Given the description of an element on the screen output the (x, y) to click on. 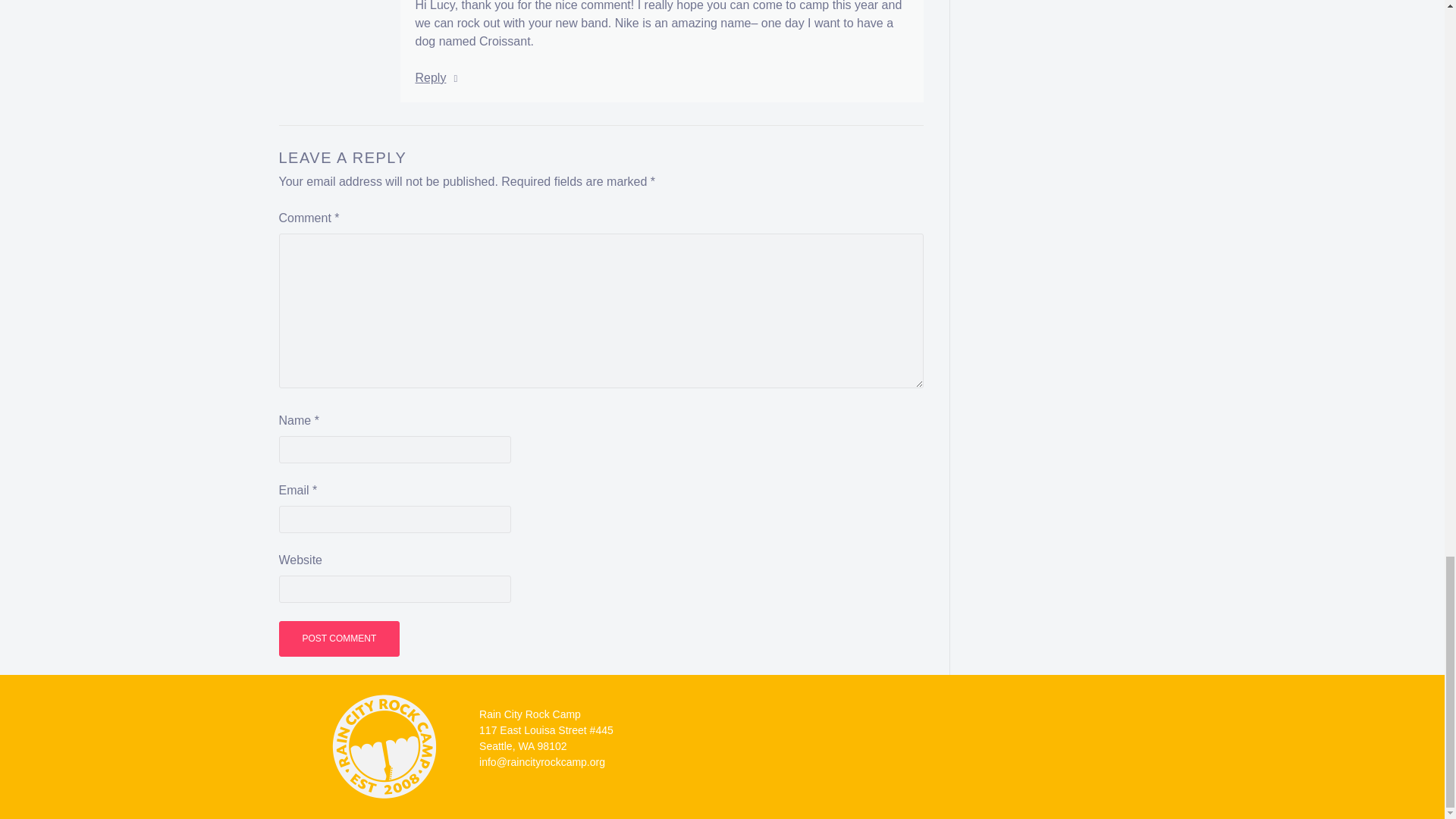
Post Comment (339, 638)
